Given the description of an element on the screen output the (x, y) to click on. 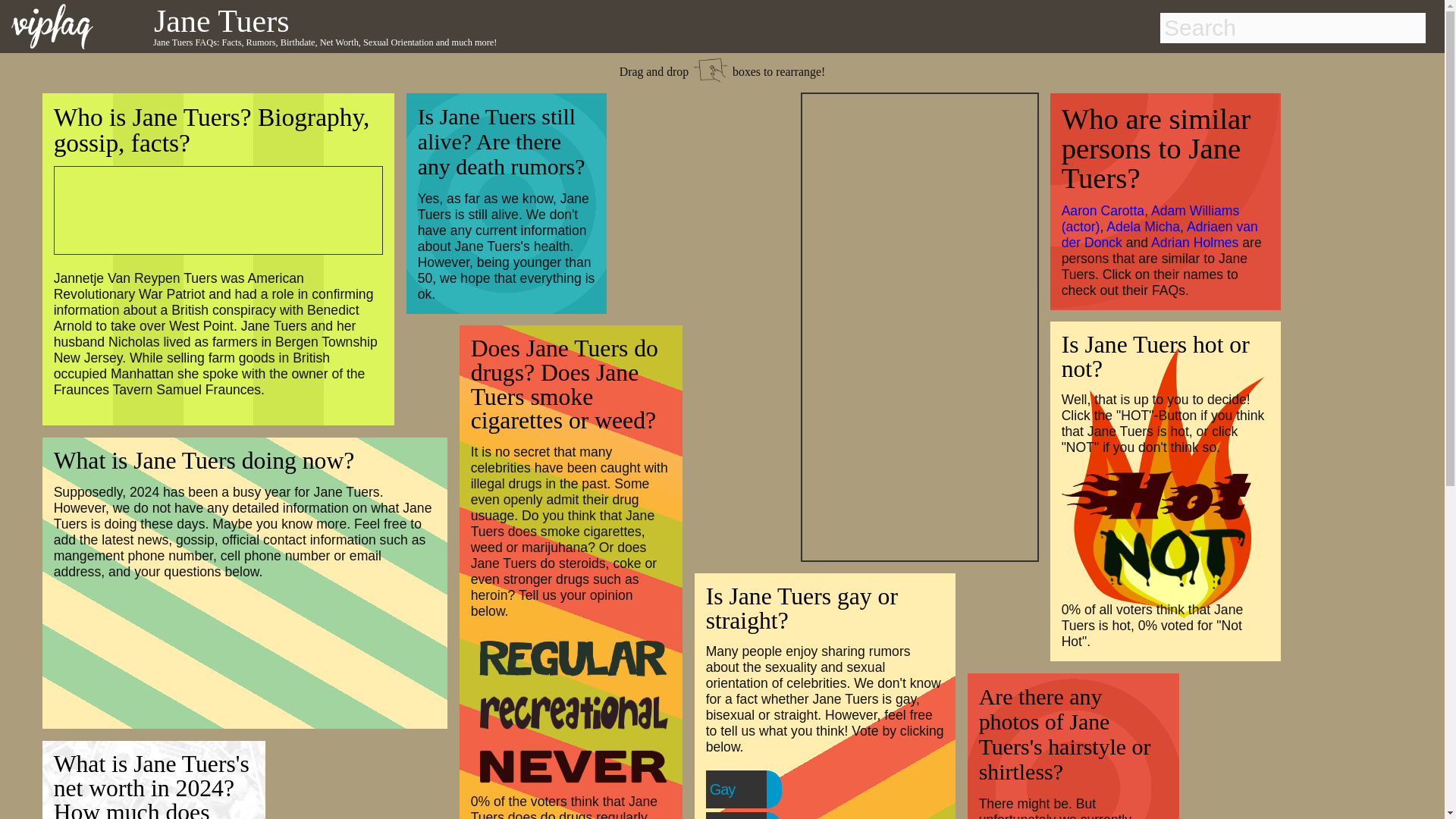
Adela Micha (1142, 226)
Advertisement (209, 208)
Adriaen van der Donck (1159, 234)
Straight (763, 816)
Aaron Carotta (1102, 210)
Adrian Holmes (1195, 242)
Gay (753, 789)
Advertisement (919, 324)
